Given the description of an element on the screen output the (x, y) to click on. 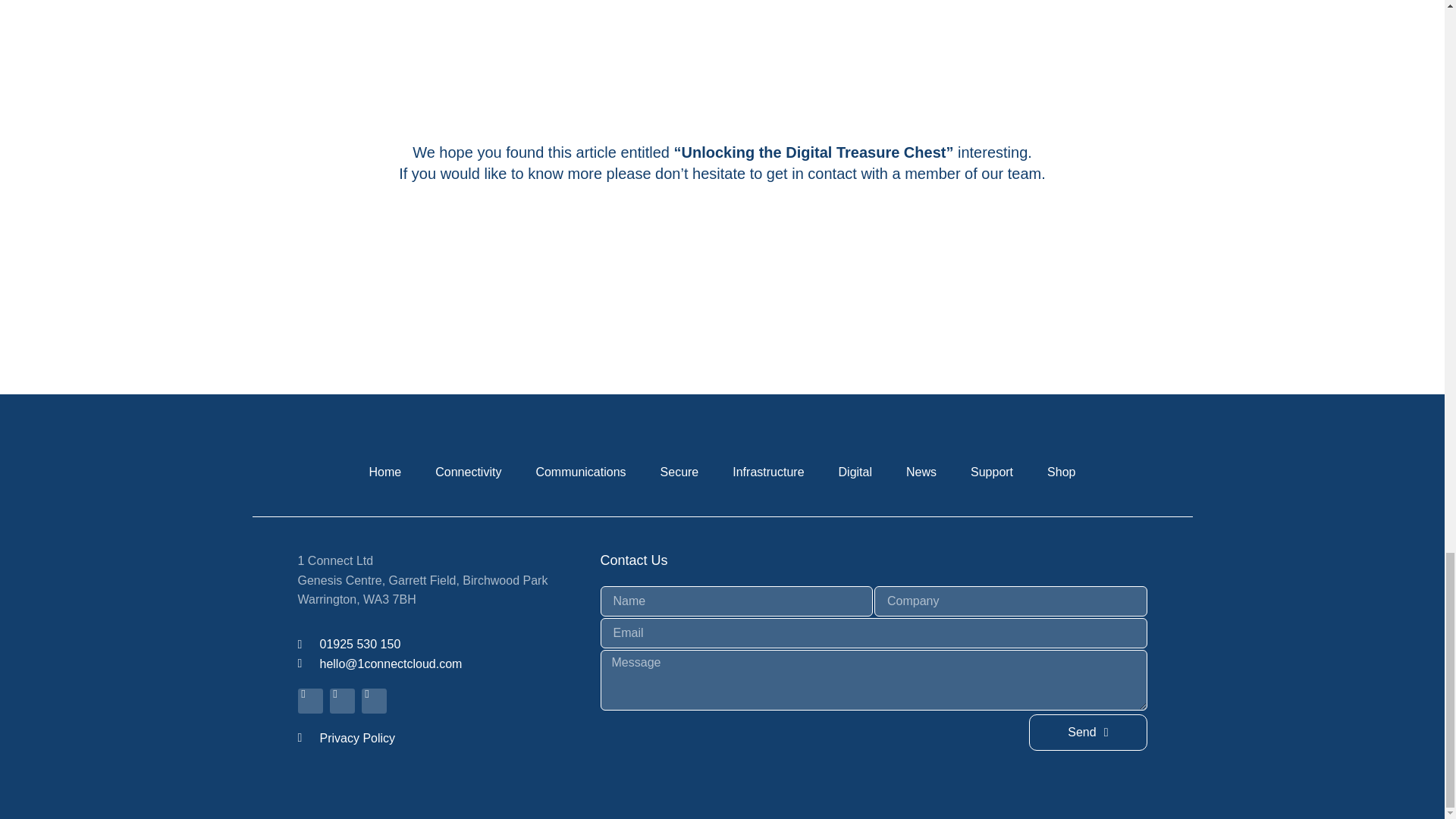
Digital (855, 472)
Infrastructure (767, 472)
Home (384, 472)
Shop (1061, 472)
Connectivity (468, 472)
Communications (579, 472)
News (921, 472)
Secure (1038, 300)
Support (679, 472)
